Given the description of an element on the screen output the (x, y) to click on. 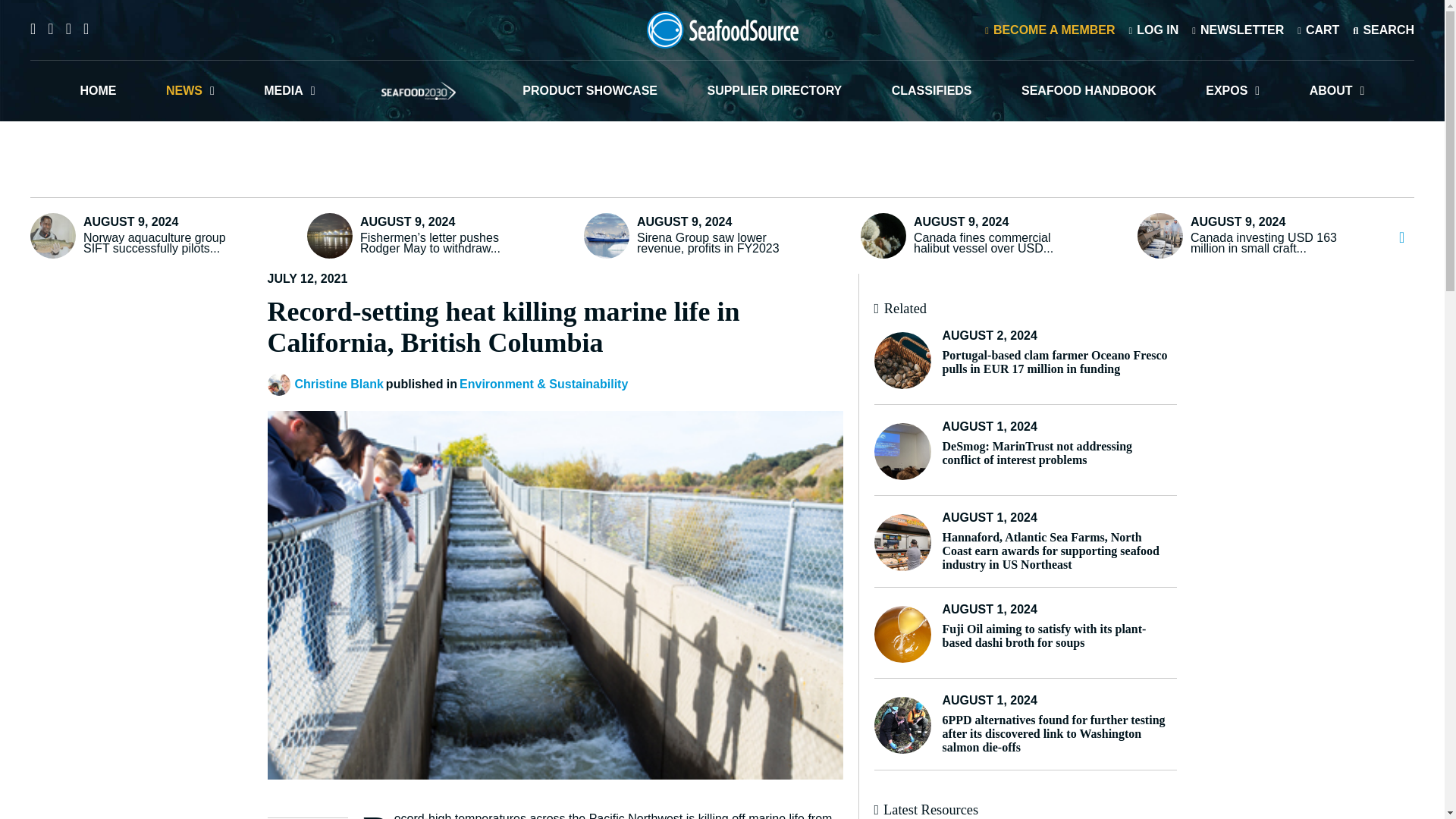
Your cart (1318, 29)
CLASSIFIEDS (931, 90)
NEWSLETTER (1238, 29)
SUPPLIER DIRECTORY (773, 90)
SEAFOOD HANDBOOK (1089, 90)
CART (1318, 29)
LOG IN (1152, 29)
SEAFOOD2030 (419, 90)
BECOME A MEMBER (1050, 29)
Subscribe to our newsletter (1238, 29)
